Given the description of an element on the screen output the (x, y) to click on. 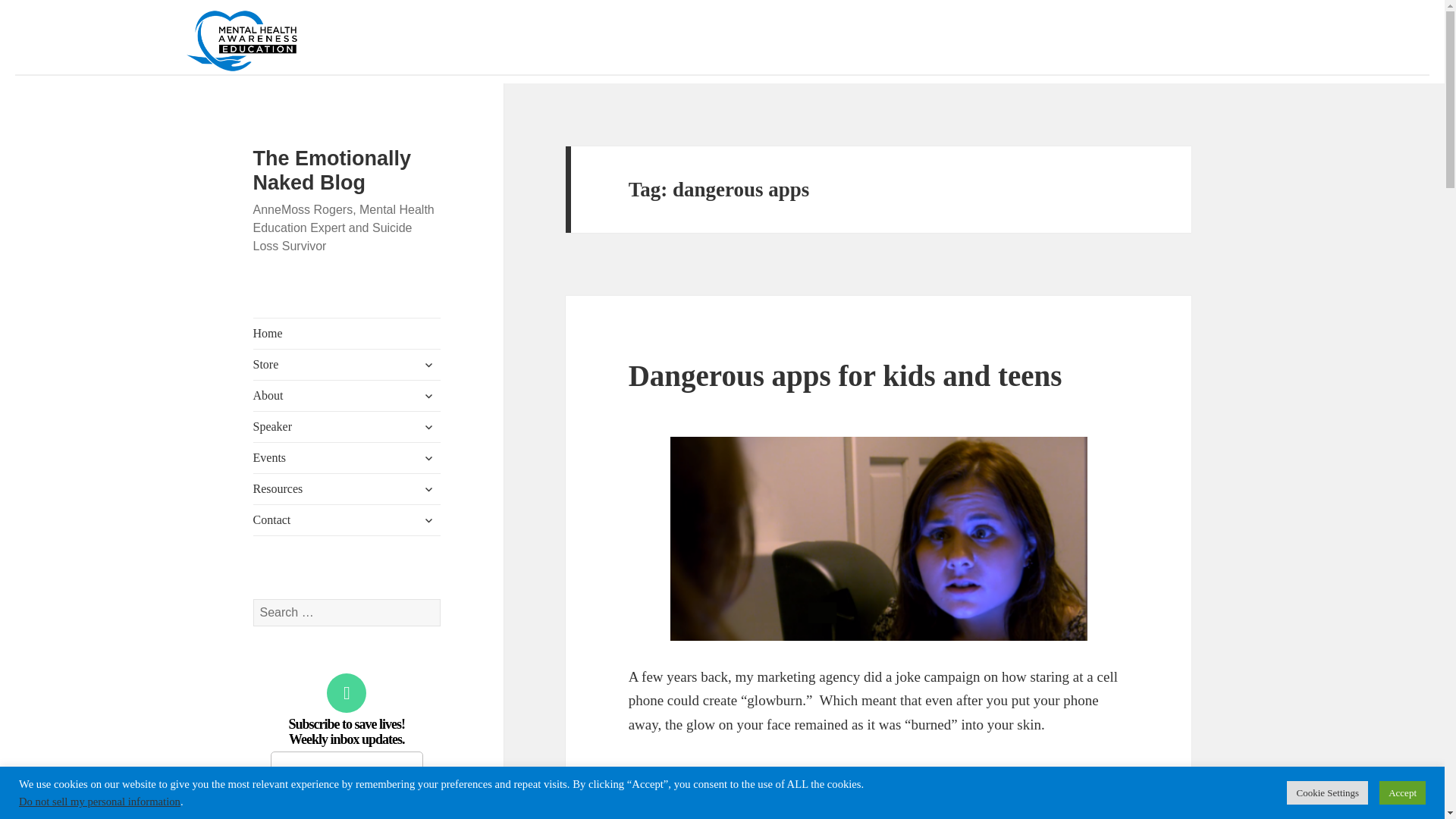
expand child menu (428, 457)
The Emotionally Naked Blog (332, 170)
expand child menu (428, 426)
About (347, 395)
Events (347, 458)
expand child menu (428, 488)
expand child menu (428, 395)
Speaker (347, 426)
Contact (347, 520)
expand child menu (428, 364)
